Given the description of an element on the screen output the (x, y) to click on. 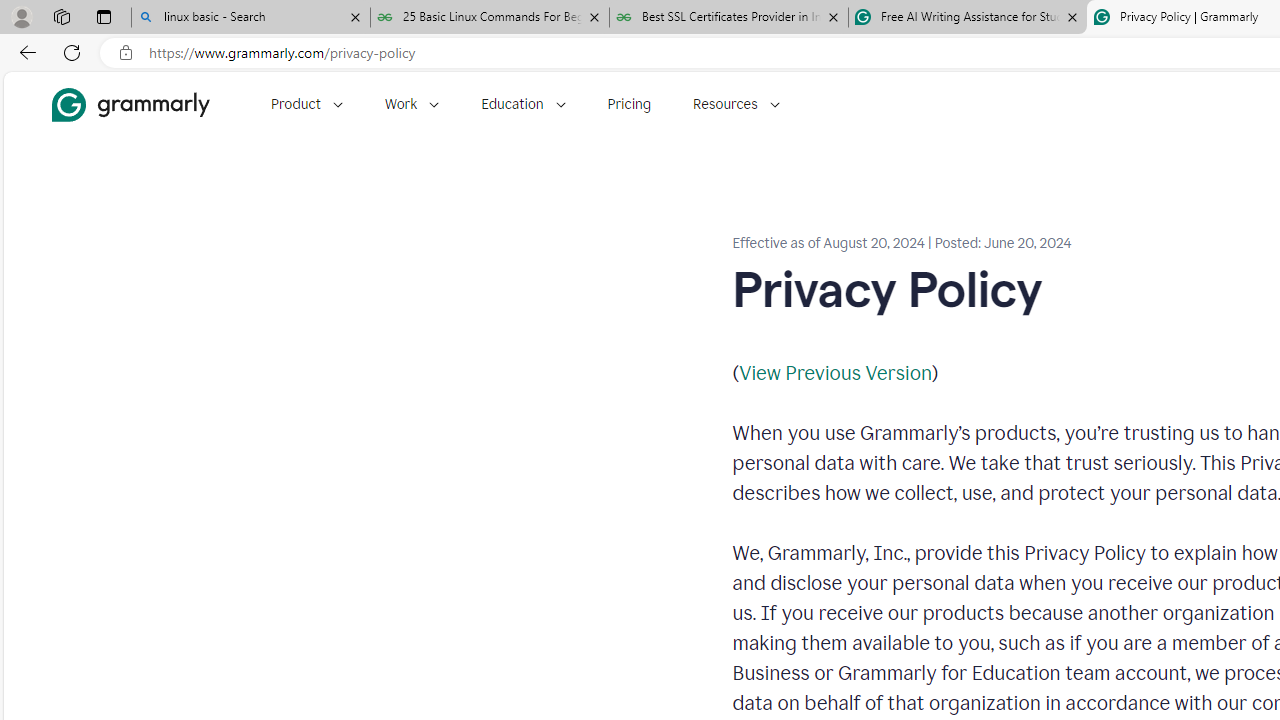
Work (412, 103)
Best SSL Certificates Provider in India - GeeksforGeeks (729, 17)
25 Basic Linux Commands For Beginners - GeeksforGeeks (490, 17)
Grammarly Home (130, 104)
Product (306, 103)
View Previous Version (834, 372)
Grammarly Home (130, 104)
linux basic - Search (250, 17)
Work (412, 104)
Free AI Writing Assistance for Students | Grammarly (967, 17)
